Given the description of an element on the screen output the (x, y) to click on. 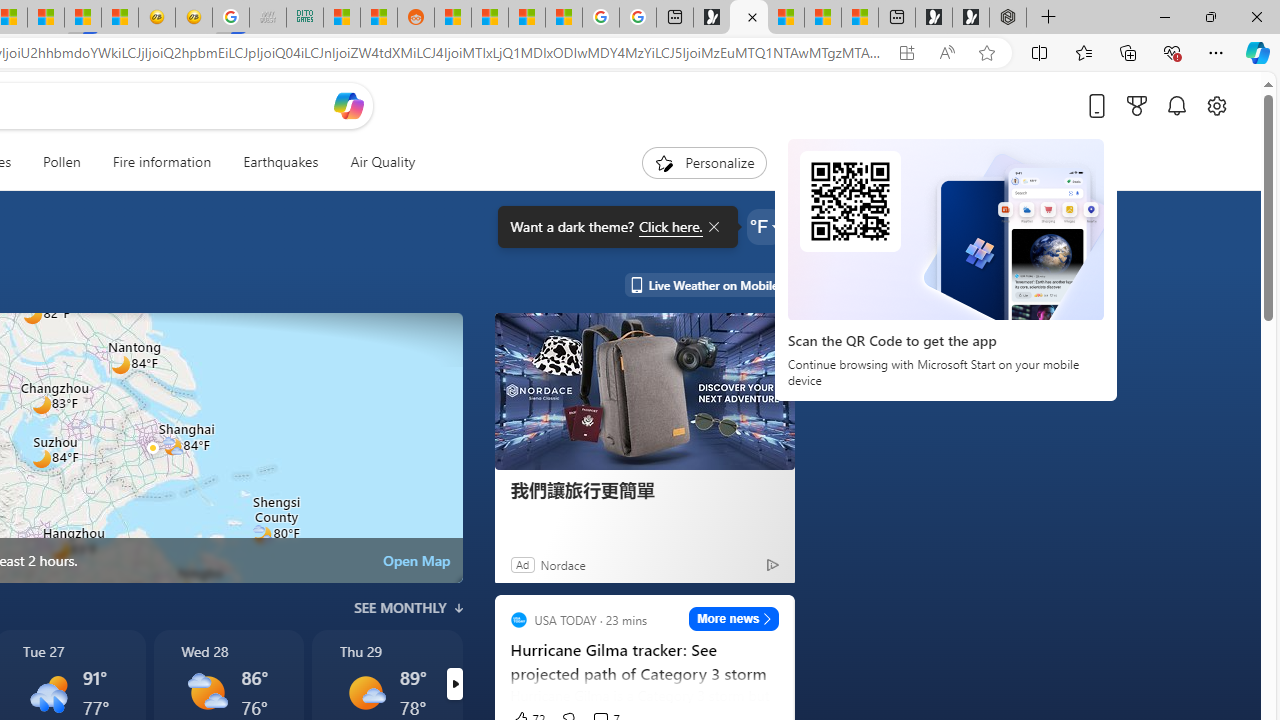
See Monthly (408, 607)
Weather settings (764, 226)
Class: BubbleMessageCloseIcon-DS-EntryPoint1-1 (712, 227)
Pollen (61, 162)
